Given the description of an element on the screen output the (x, y) to click on. 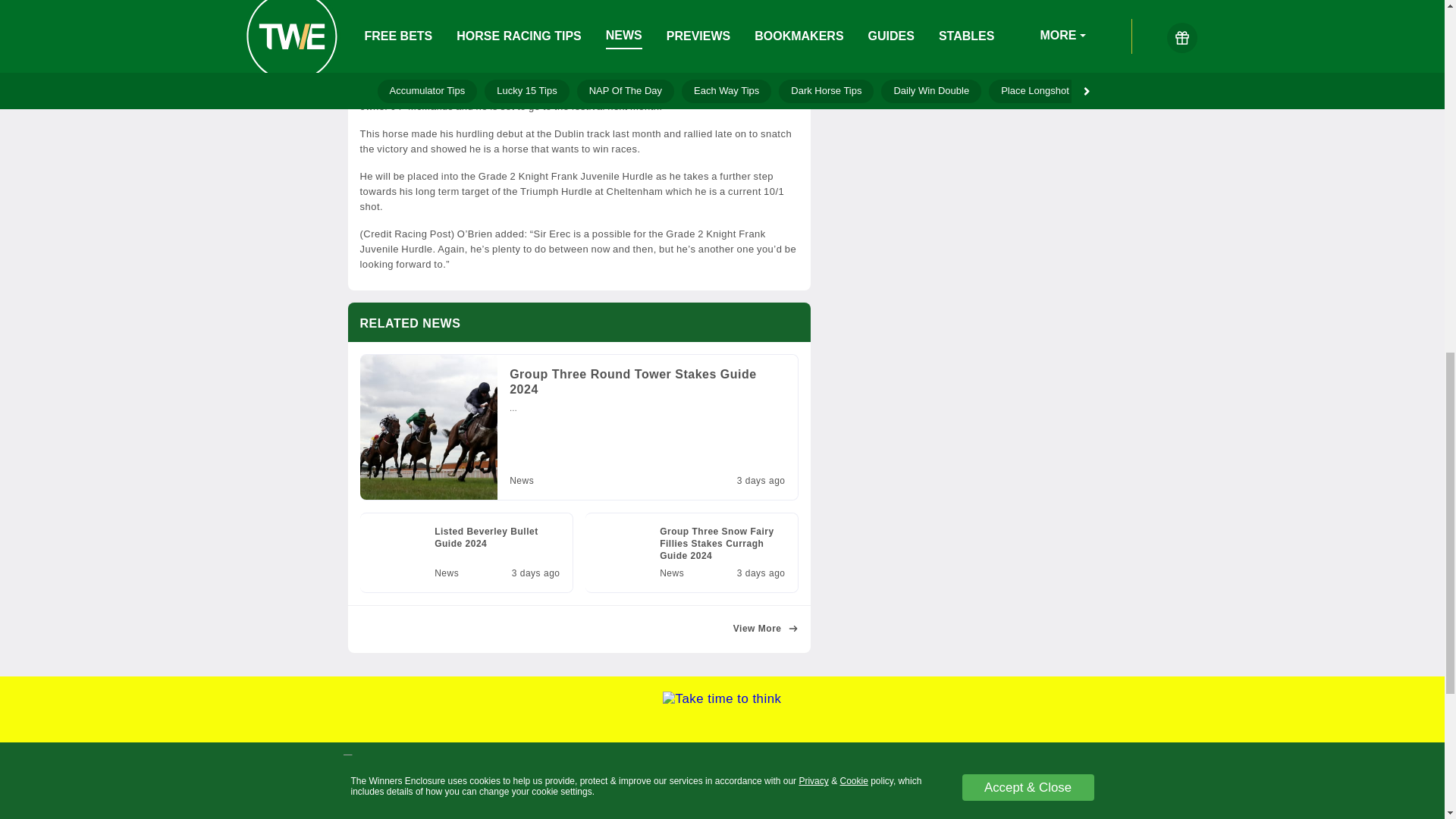
Related News (465, 552)
View More (578, 473)
